Given the description of an element on the screen output the (x, y) to click on. 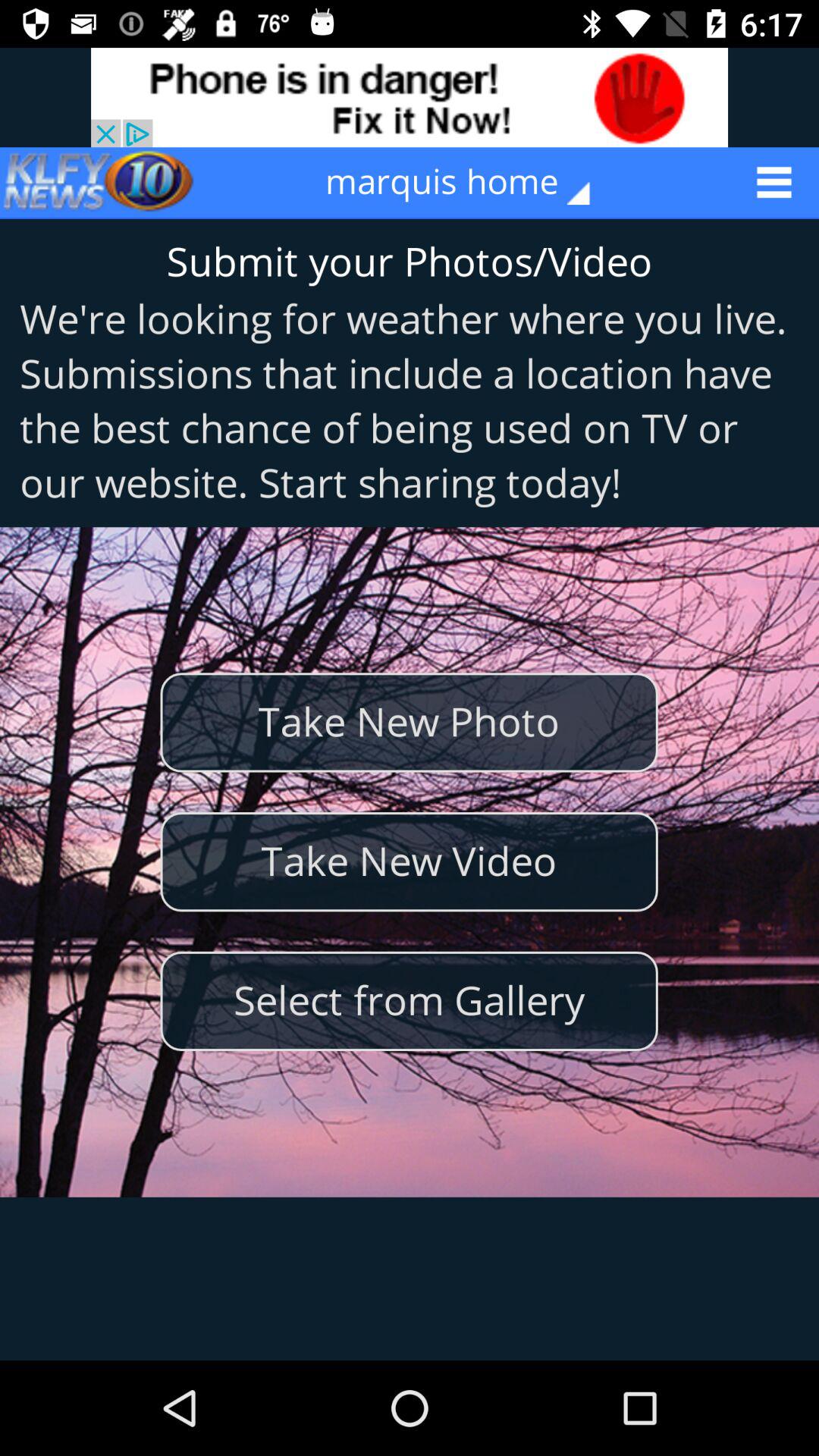
open icon at the top left corner (99, 182)
